Given the description of an element on the screen output the (x, y) to click on. 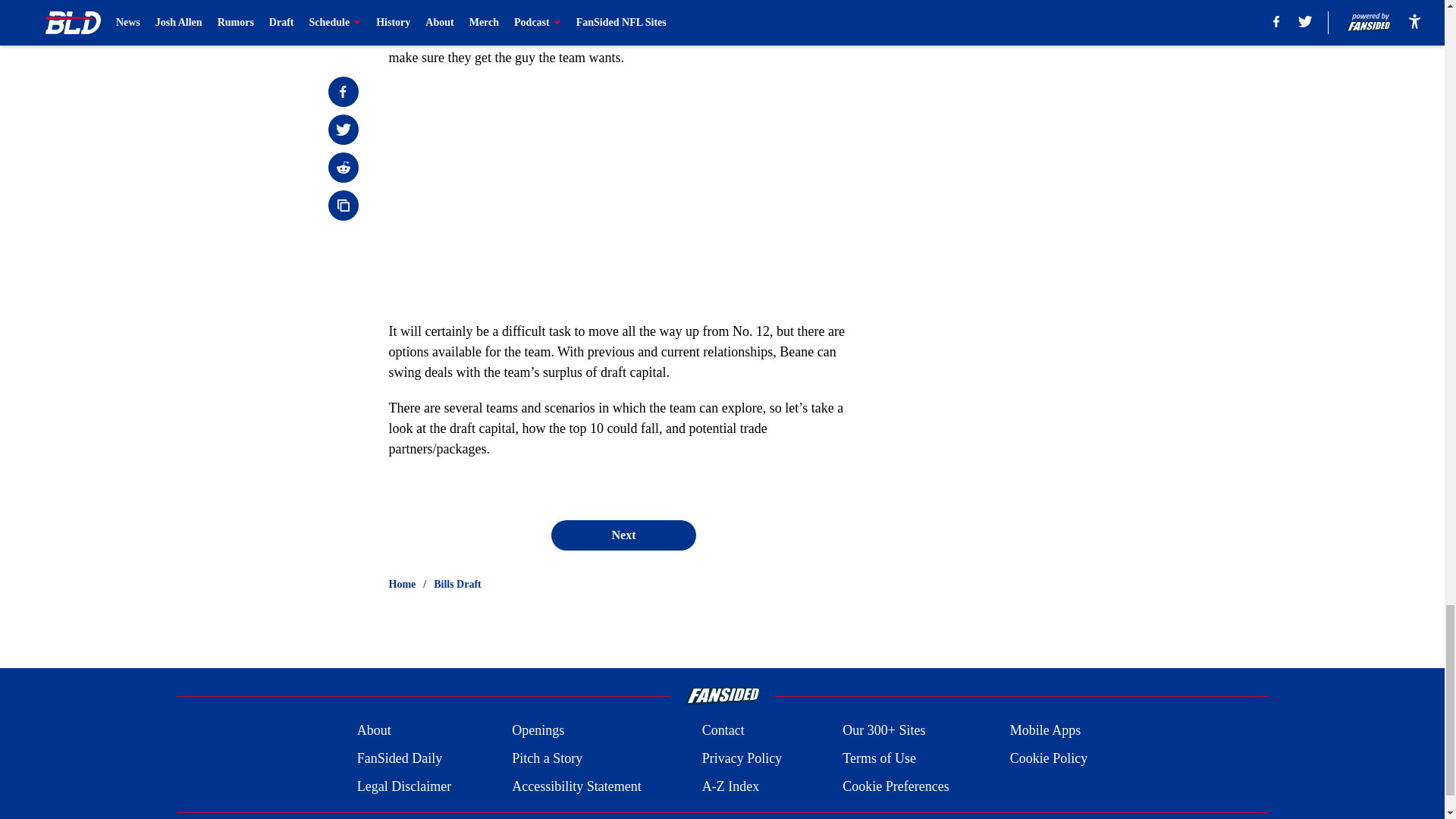
FanSided Daily (399, 758)
About (373, 730)
Contact (722, 730)
Openings (538, 730)
Mobile Apps (1045, 730)
Home (401, 584)
Bills Draft (457, 584)
Pitch a Story (547, 758)
Next (622, 535)
